Given the description of an element on the screen output the (x, y) to click on. 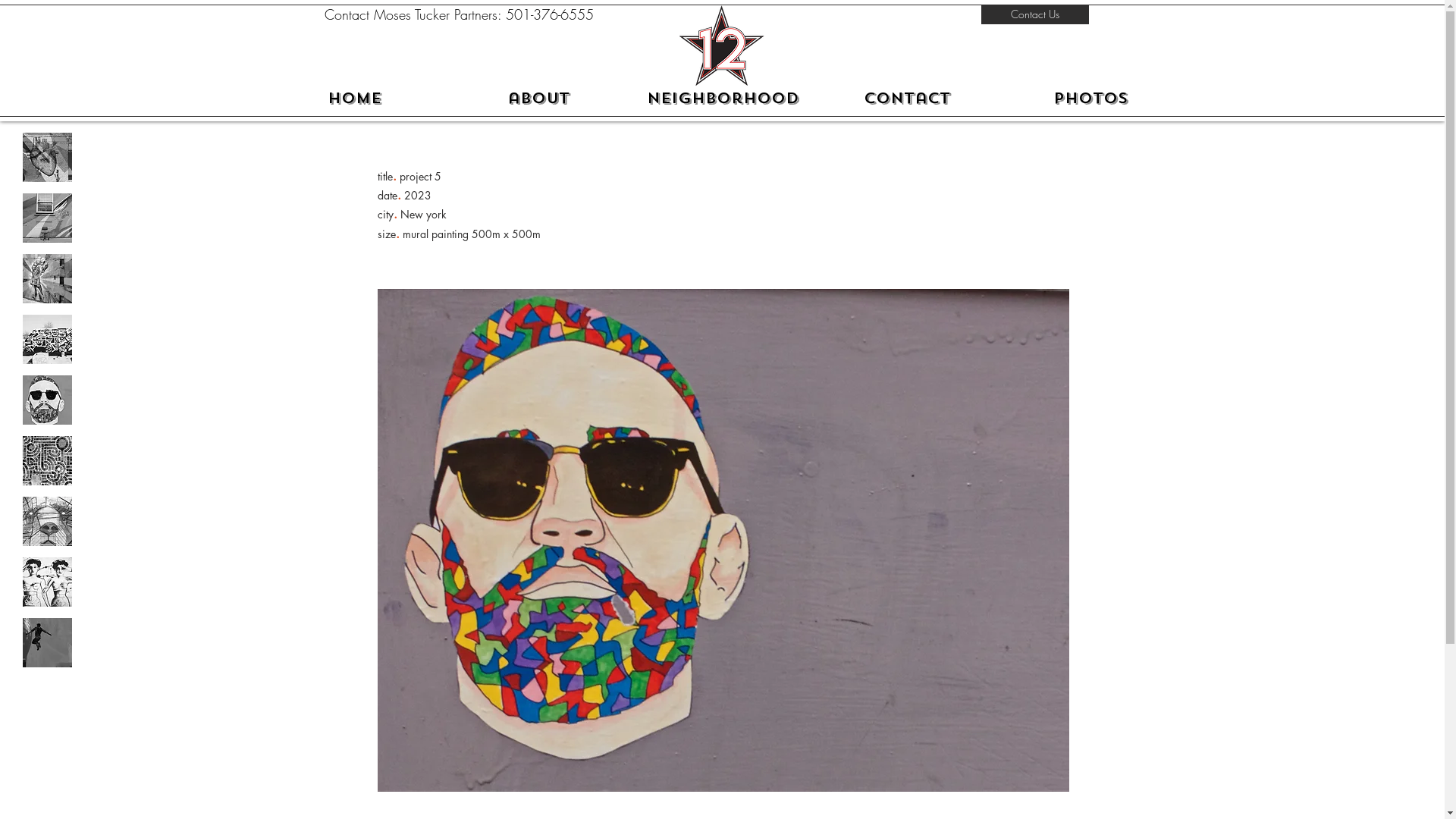
contact Element type: text (906, 98)
Contact Us Element type: text (1034, 14)
501-376-6555 Element type: text (549, 14)
neighborhood Element type: text (722, 98)
about Element type: text (537, 98)
photos Element type: text (1091, 98)
HOME Element type: text (354, 98)
